Given the description of an element on the screen output the (x, y) to click on. 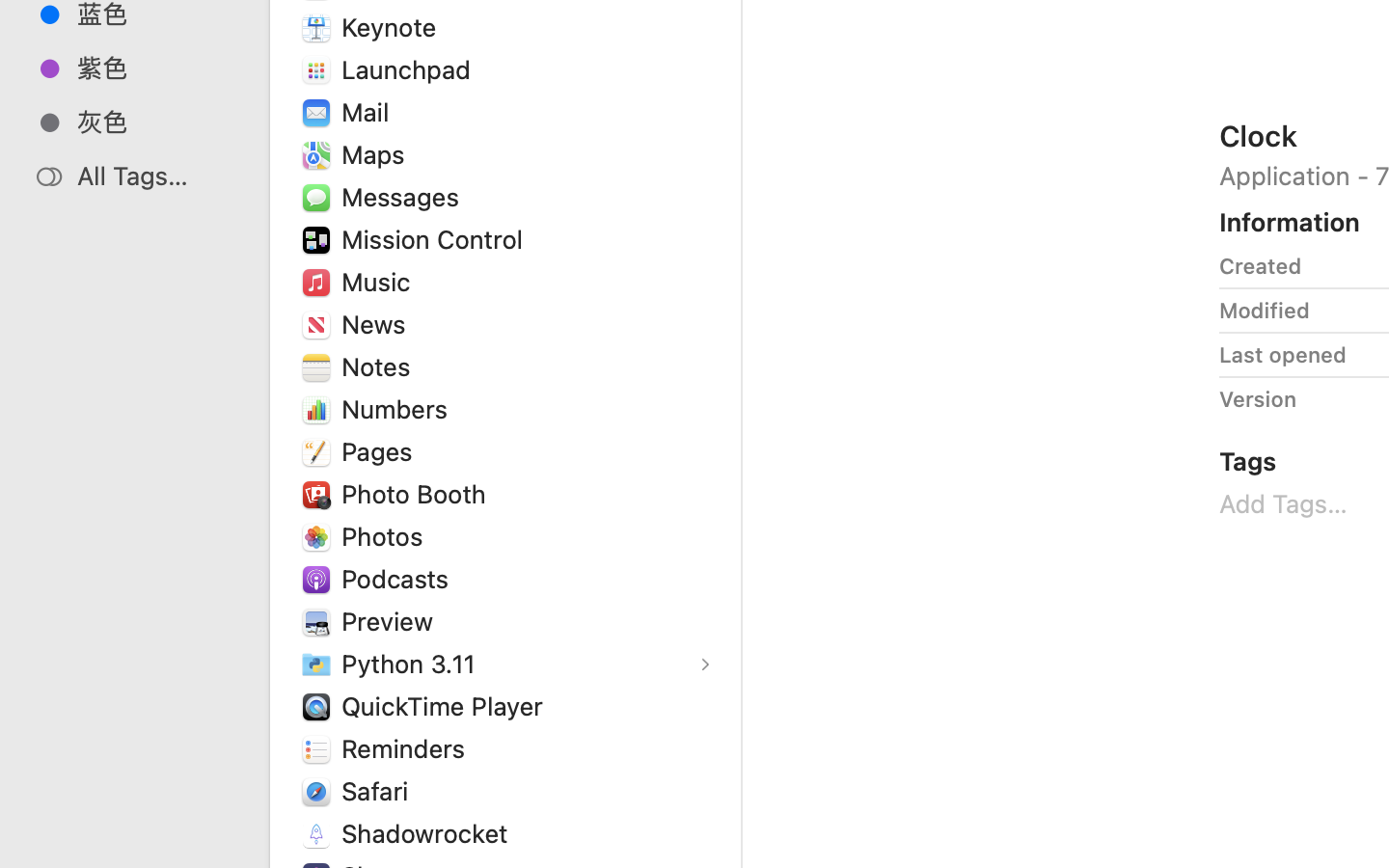
Music Element type: AXTextField (379, 281)
Launchpad Element type: AXTextField (410, 69)
News Element type: AXTextField (377, 323)
灰色 Element type: AXStaticText (155, 121)
Preview Element type: AXTextField (391, 620)
